Given the description of an element on the screen output the (x, y) to click on. 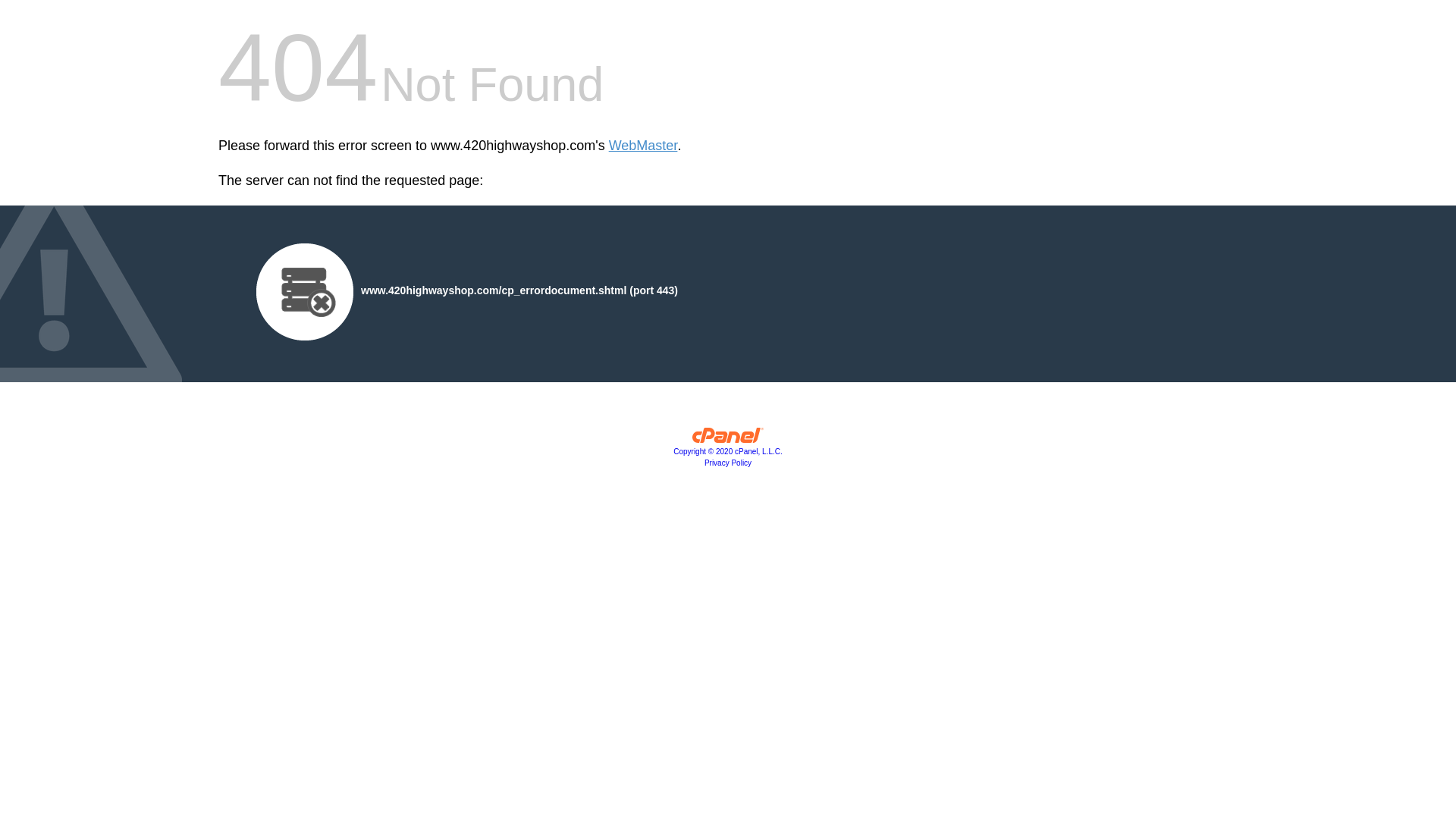
cPanel, Inc. Element type: hover (728, 439)
WebMaster Element type: text (642, 145)
Privacy Policy Element type: text (727, 462)
